Given the description of an element on the screen output the (x, y) to click on. 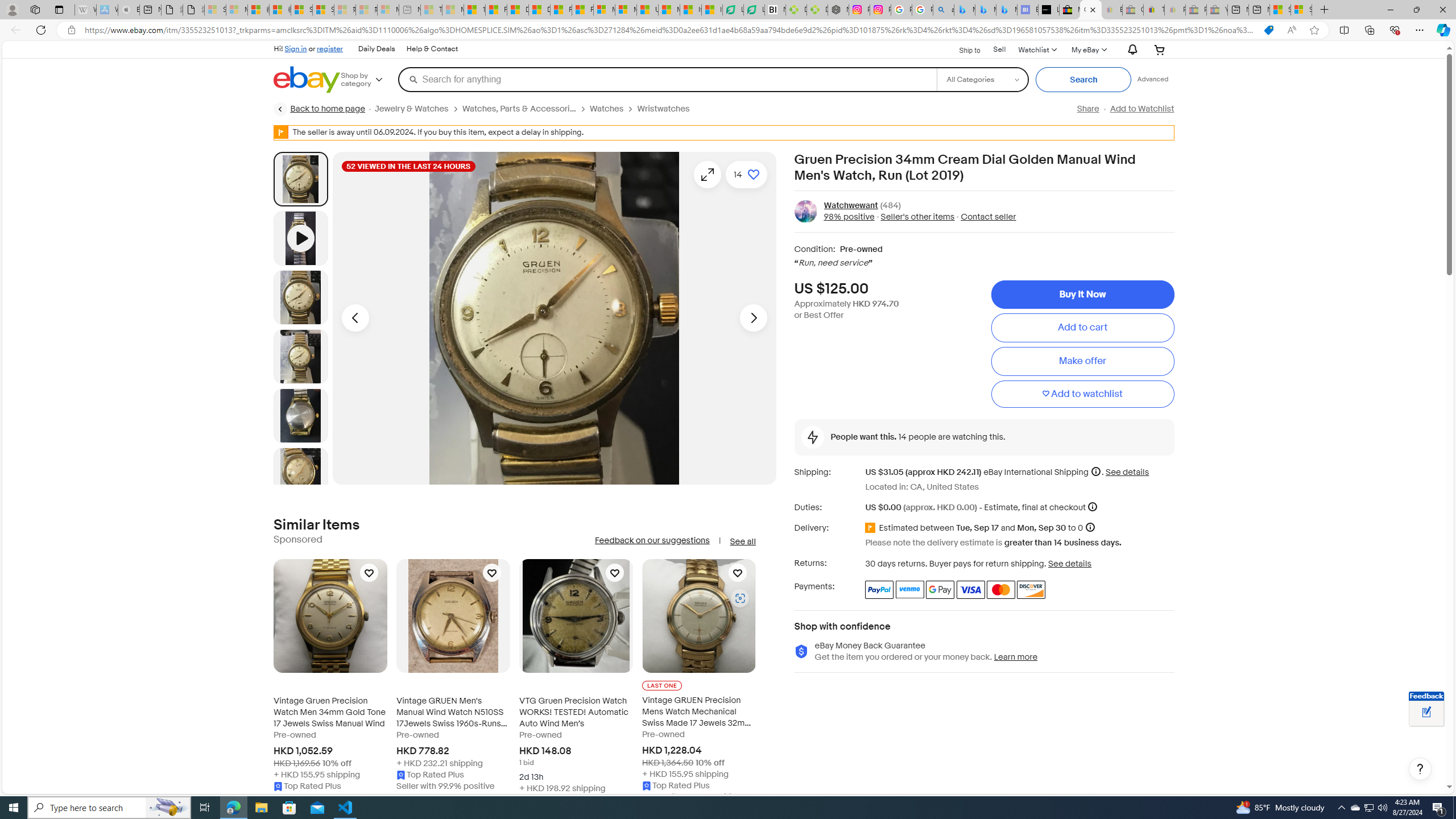
Picture 4 of 13 (300, 415)
Help & Contact (431, 49)
Expand Cart (1159, 49)
Picture 1 of 13 (300, 178)
See details - for more information about returns (1070, 563)
Nordace - Nordace Edin Collection (837, 9)
Previous image - Item images thumbnails (354, 318)
